Given the description of an element on the screen output the (x, y) to click on. 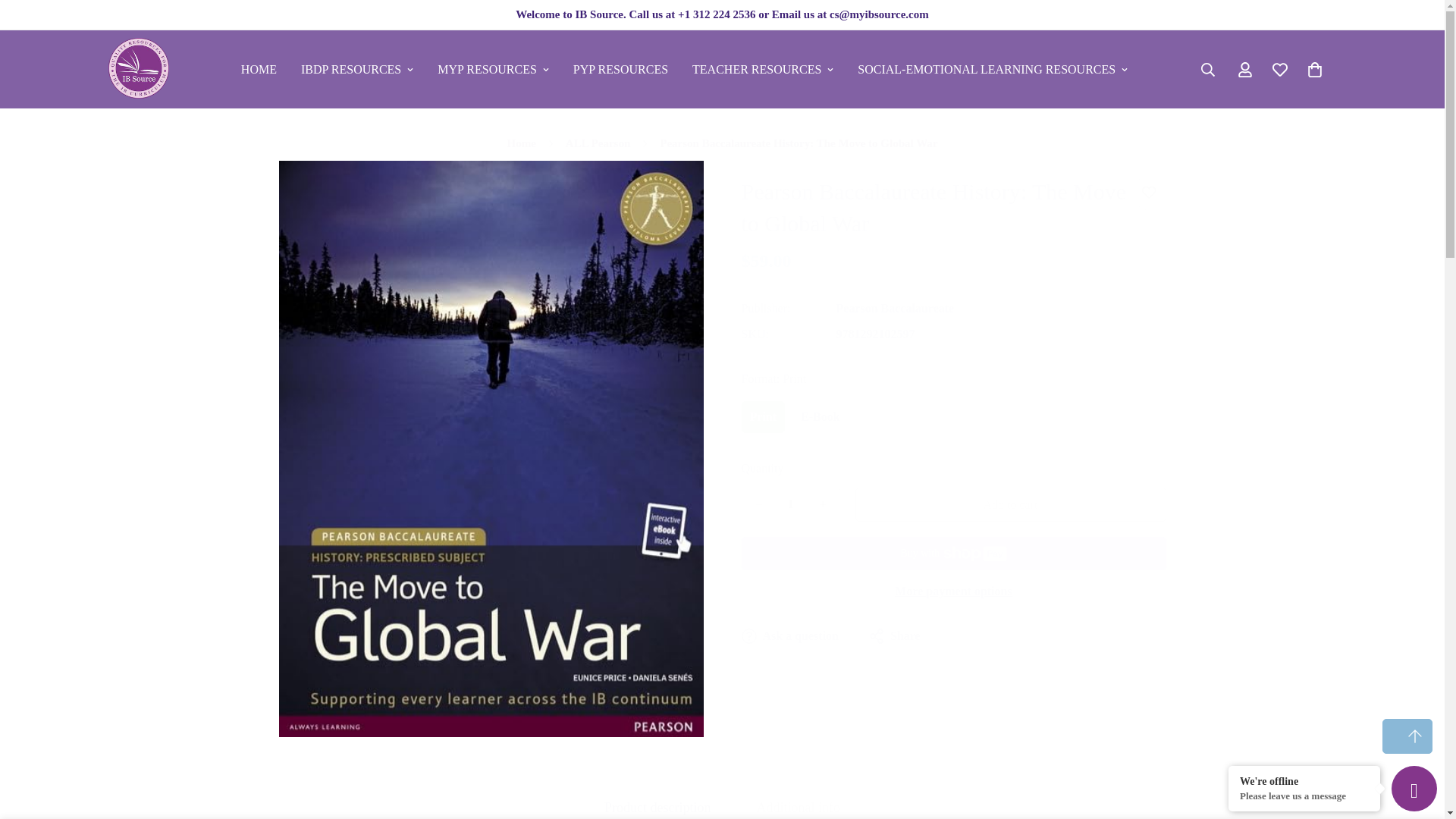
Pearson Baccalaureate (894, 308)
We're offline (1304, 780)
Please leave us a message (1304, 796)
1 (789, 503)
Back to the home page (521, 143)
